Given the description of an element on the screen output the (x, y) to click on. 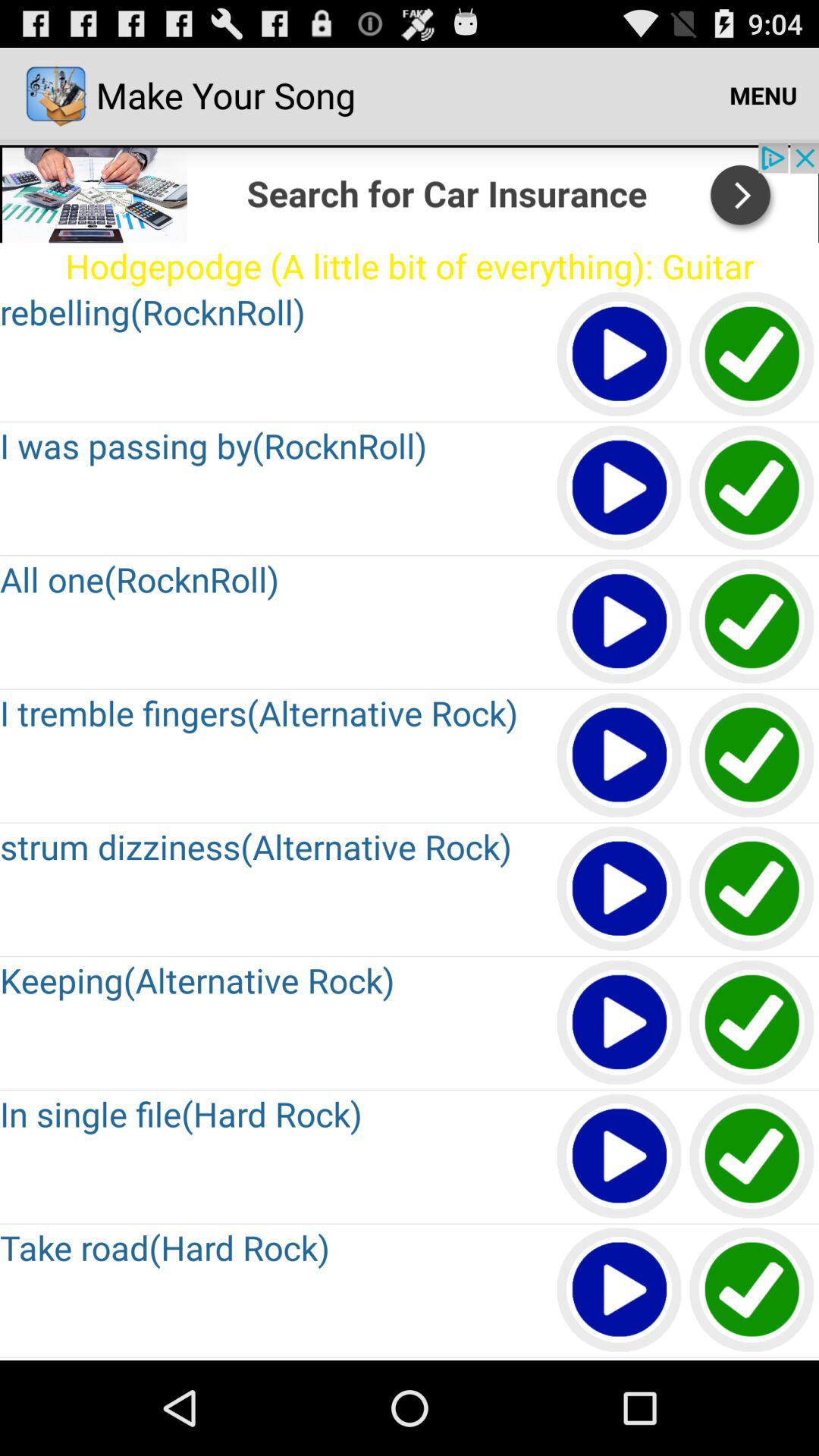
play in single file hard rock (619, 1156)
